Given the description of an element on the screen output the (x, y) to click on. 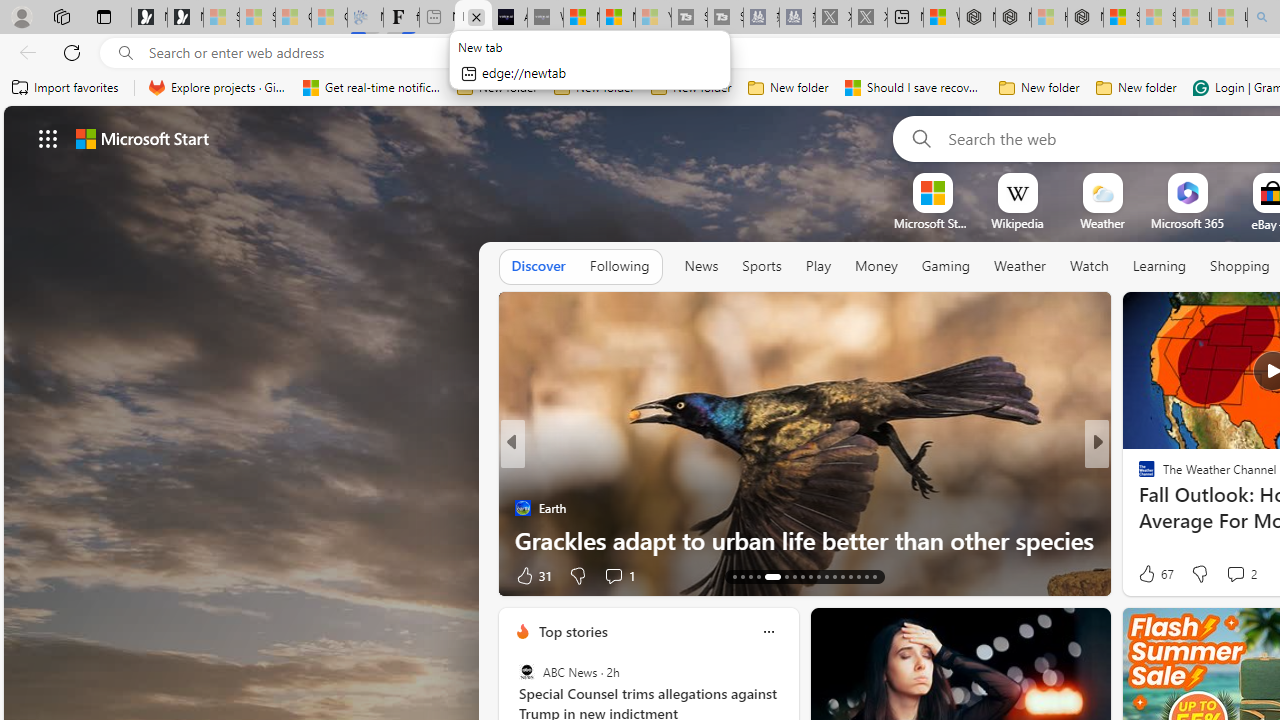
Top 5 Scary Videos (1138, 507)
Microsoft Start Sports (932, 223)
Start the conversation (1235, 574)
Fox Weather (1138, 475)
View comments 11 Comment (1244, 574)
Discover (538, 267)
New tab (905, 17)
Money (875, 265)
92 Like (1149, 574)
Ad (1142, 575)
Microsoft Start Sports (581, 17)
Alternet (1138, 475)
AutomationID: tab-19 (750, 576)
Top stories (572, 631)
